Given the description of an element on the screen output the (x, y) to click on. 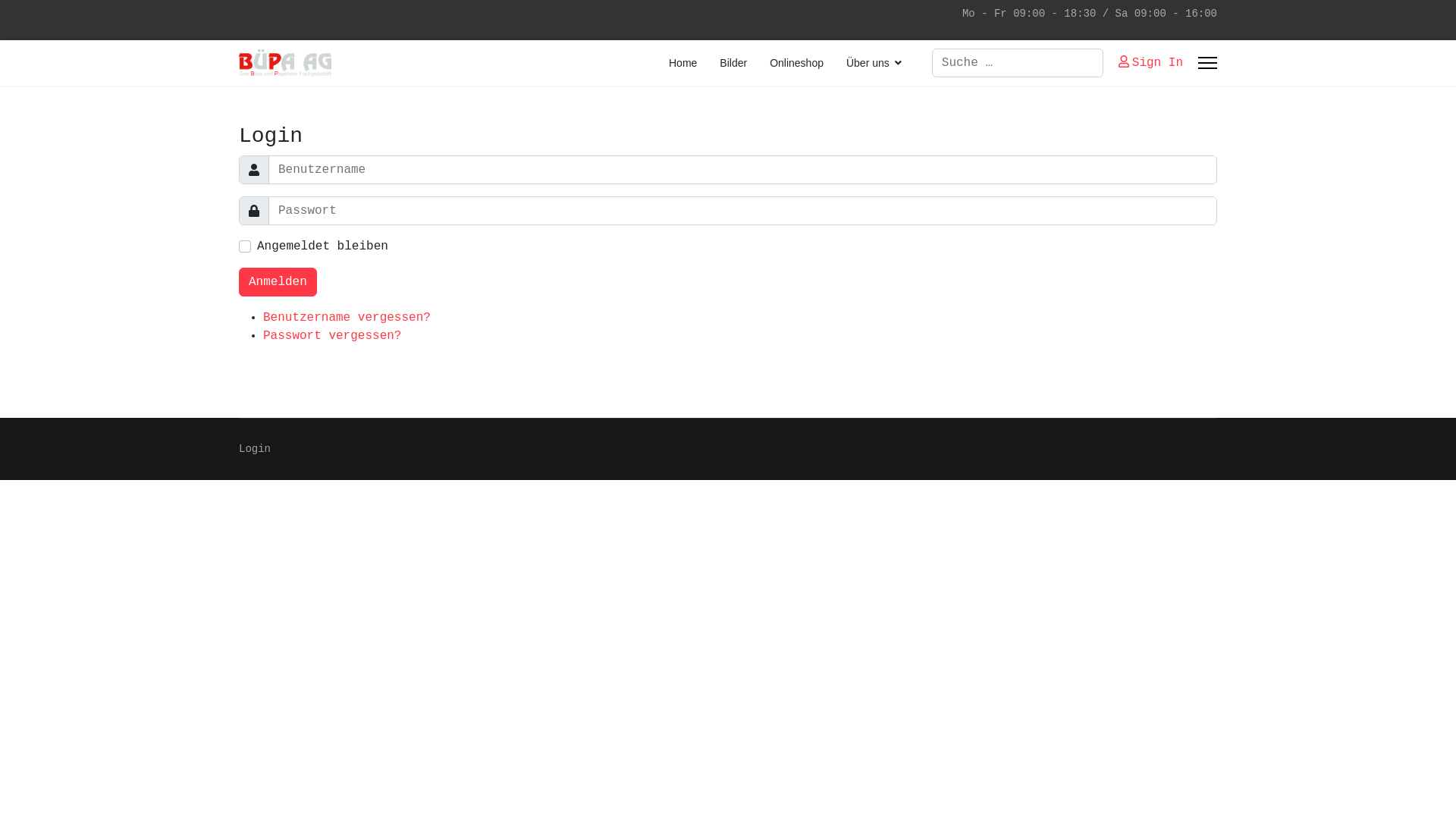
Benutzername vergessen? Element type: text (346, 317)
Onlineshop Element type: text (796, 62)
Login Element type: text (254, 449)
Menu Element type: hover (1207, 62)
Home Element type: text (682, 62)
Bilder Element type: text (733, 62)
Anmelden Element type: text (277, 281)
Passwort vergessen? Element type: text (332, 335)
Sign In Element type: text (1150, 62)
